Given the description of an element on the screen output the (x, y) to click on. 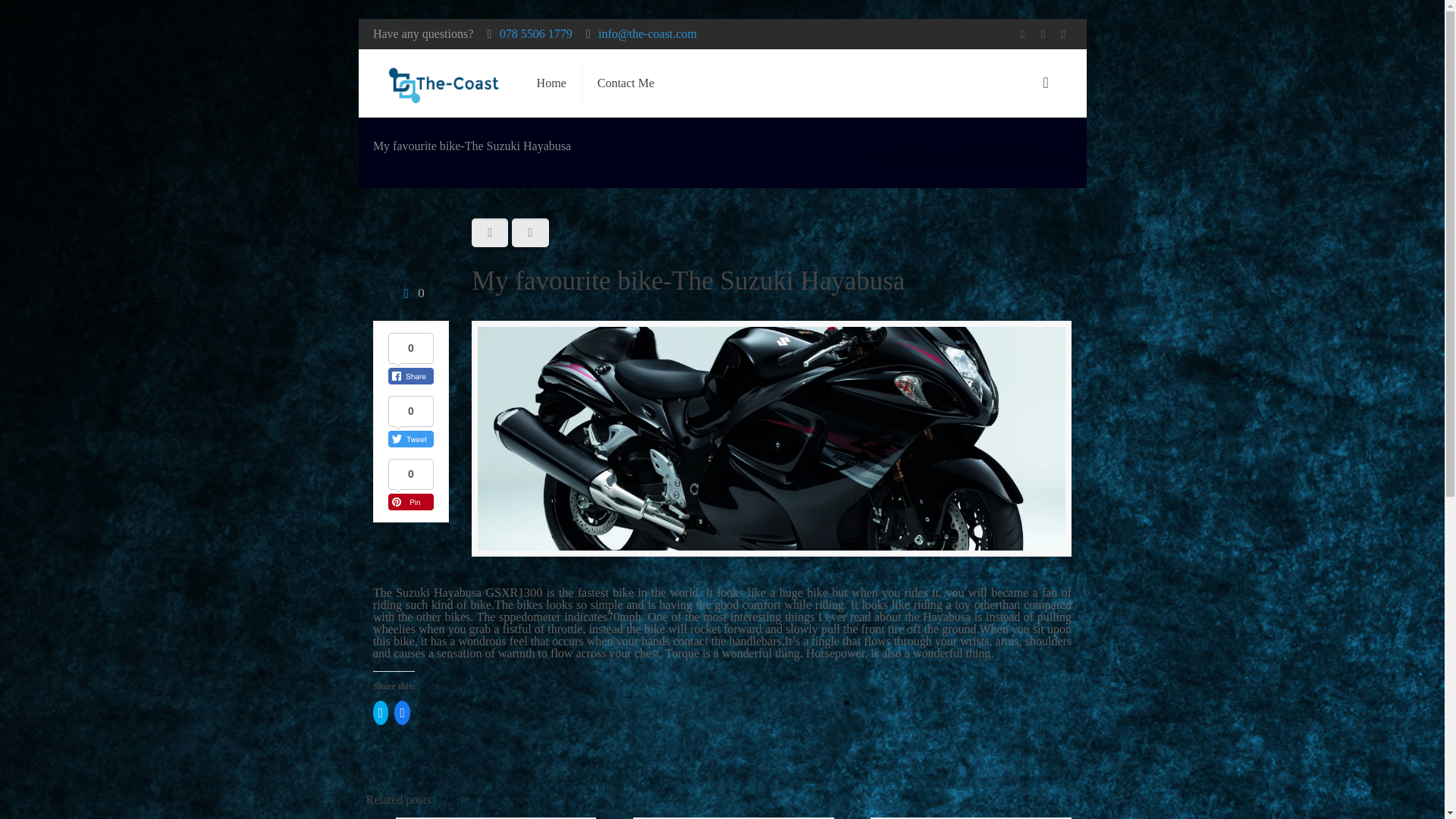
Home (551, 83)
My favourite bike-The Suzuki Hayabusa (972, 158)
Twitter (1043, 33)
The-coast (443, 83)
Home (915, 146)
Contact Me (625, 83)
0 (410, 292)
Pinterest (1063, 33)
Uncategorized (1000, 146)
Facebook (1022, 33)
